Given the description of an element on the screen output the (x, y) to click on. 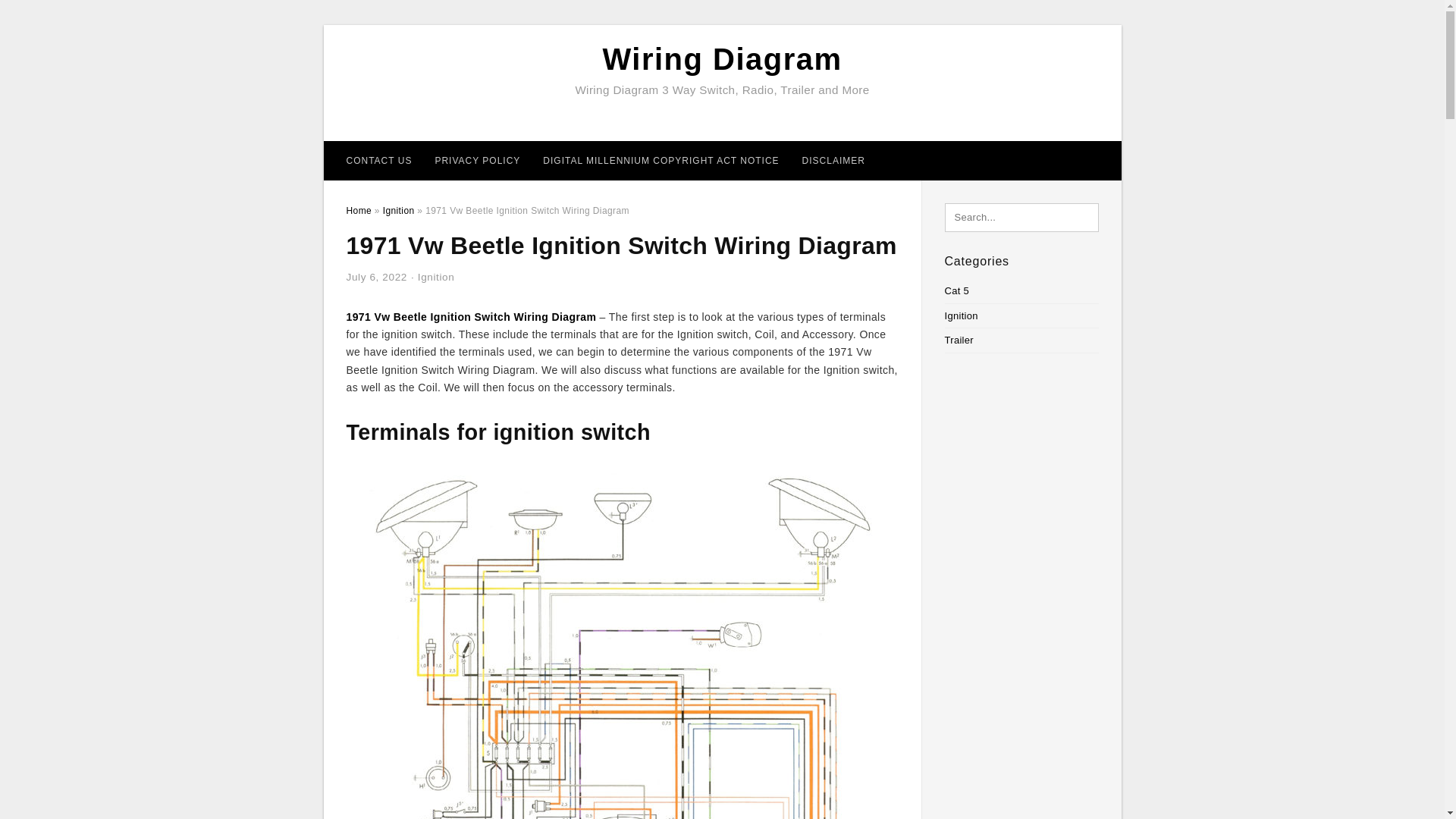
DIGITAL MILLENNIUM COPYRIGHT ACT NOTICE (660, 160)
Ignition (435, 276)
Wiring Diagram (721, 59)
1971 Vw Beetle Ignition Switch Wiring Diagram (470, 316)
PRIVACY POLICY (477, 160)
Ignition (398, 210)
Home (358, 210)
CONTACT US (378, 160)
DISCLAIMER (833, 160)
